Given the description of an element on the screen output the (x, y) to click on. 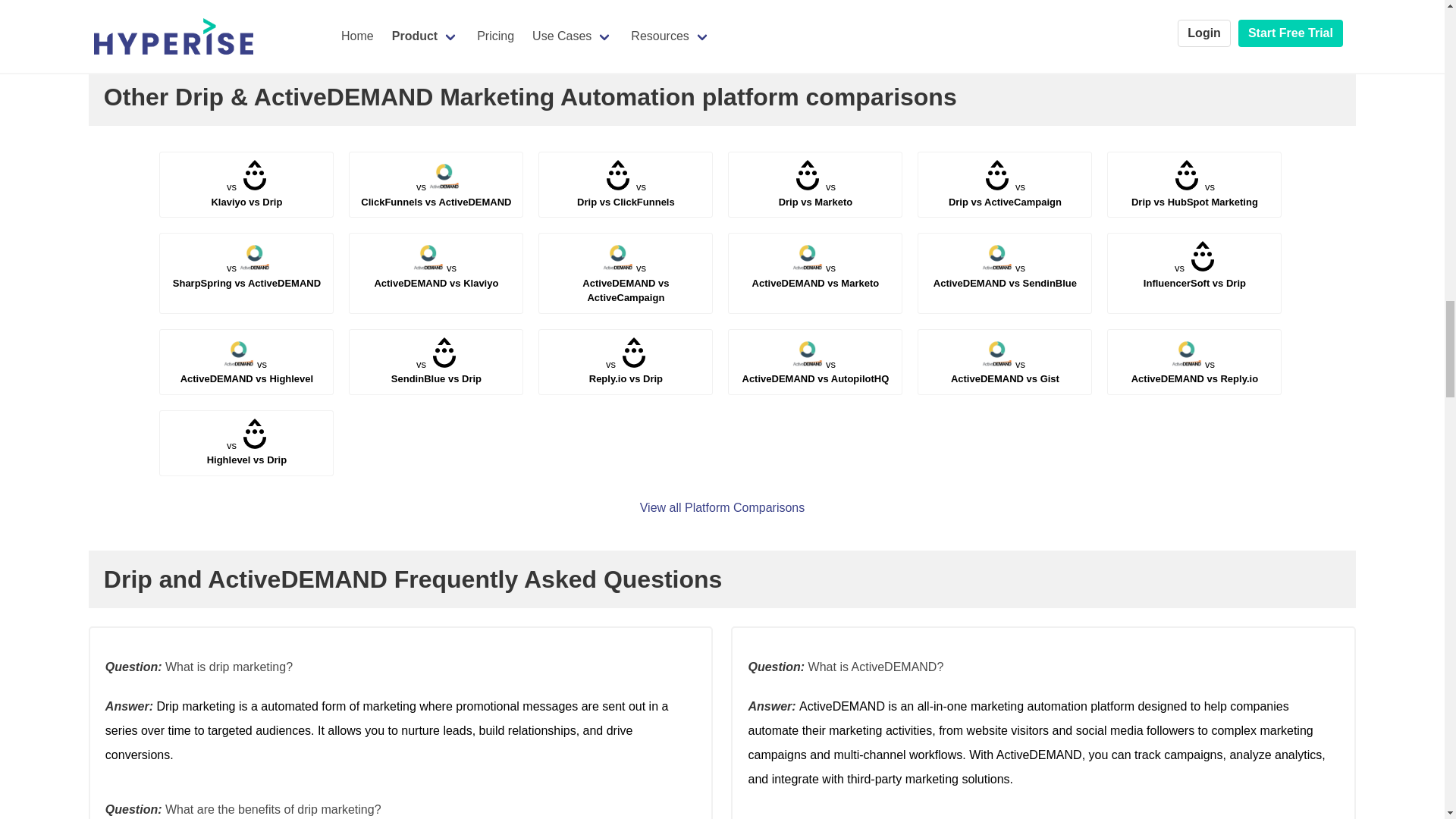
SharpSpring vs ActiveDEMAND (246, 275)
ActiveDEMAND vs Marketo (815, 275)
ActiveDEMAND vs ActiveCampaign (625, 282)
Drip vs ActiveCampaign (1194, 194)
ActiveDEMAND vs AutopilotHQ (1005, 194)
DRIP INTEGRATION GUIDE (814, 371)
